Given the description of an element on the screen output the (x, y) to click on. 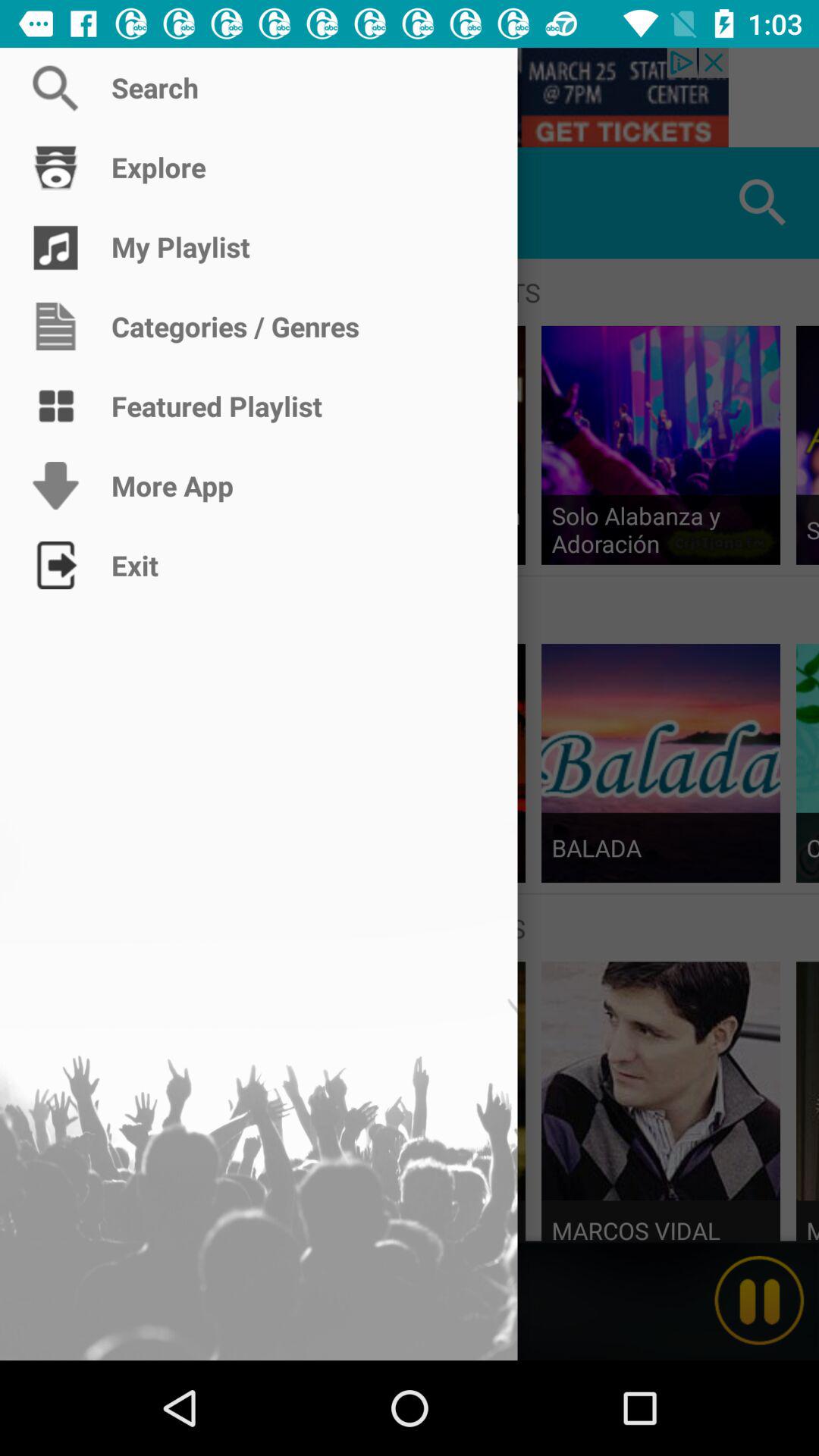
switch pages (55, 202)
